Given the description of an element on the screen output the (x, y) to click on. 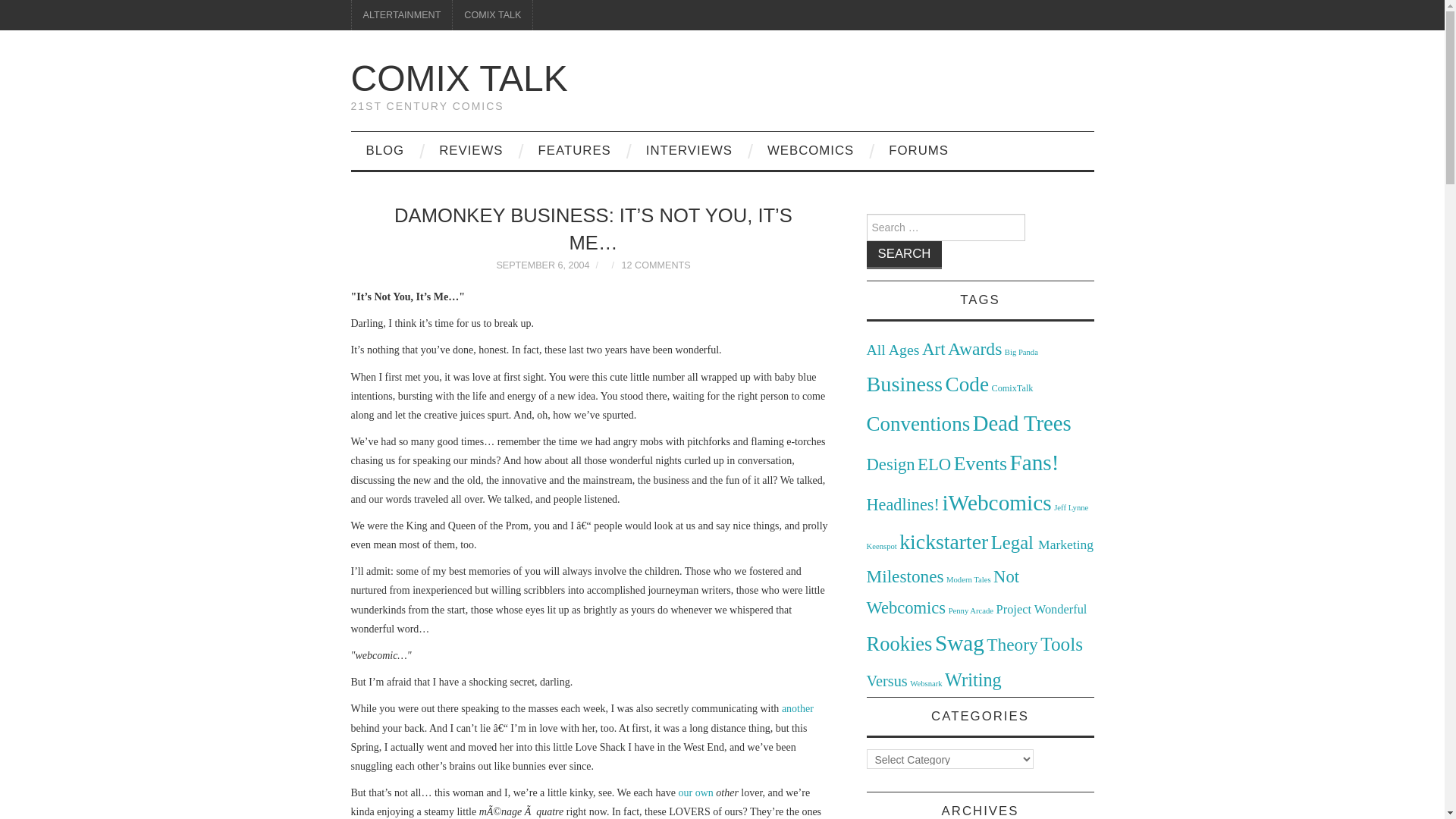
WEBCOMICS (810, 150)
Comix Talk (458, 78)
own (704, 792)
Big Panda (1021, 352)
FEATURES (574, 150)
Art (932, 348)
Search (904, 254)
Search (904, 254)
FORUMS (918, 150)
REVIEWS (470, 150)
Search (904, 254)
All Ages (892, 349)
SEPTEMBER 6, 2004 (542, 265)
COMIX TALK (492, 15)
INTERVIEWS (689, 150)
